Given the description of an element on the screen output the (x, y) to click on. 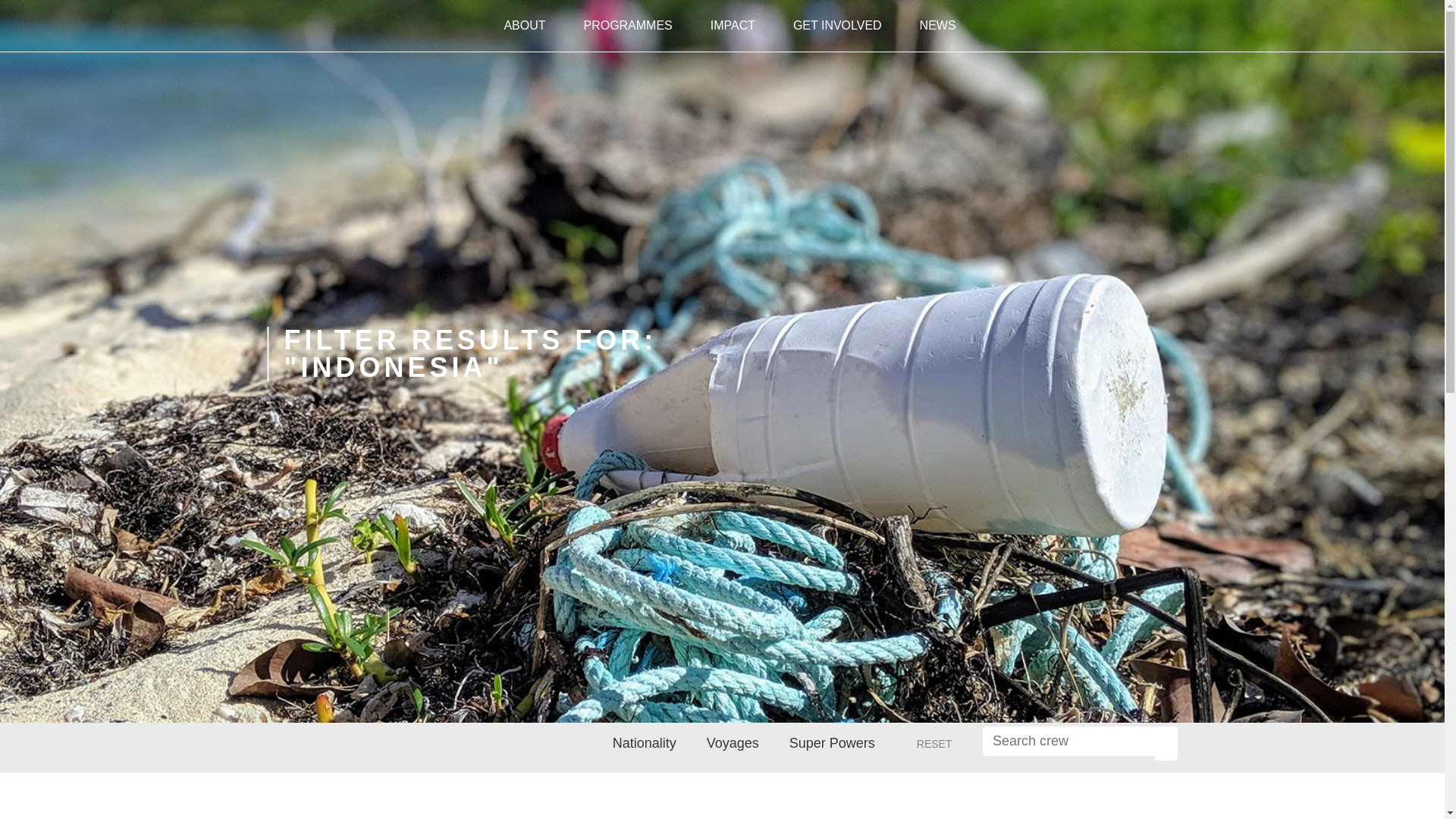
GET INVOLVED (837, 25)
ABOUT (524, 25)
NEWS (938, 25)
IMPACT (732, 25)
PROGRAMMES (627, 25)
